Given the description of an element on the screen output the (x, y) to click on. 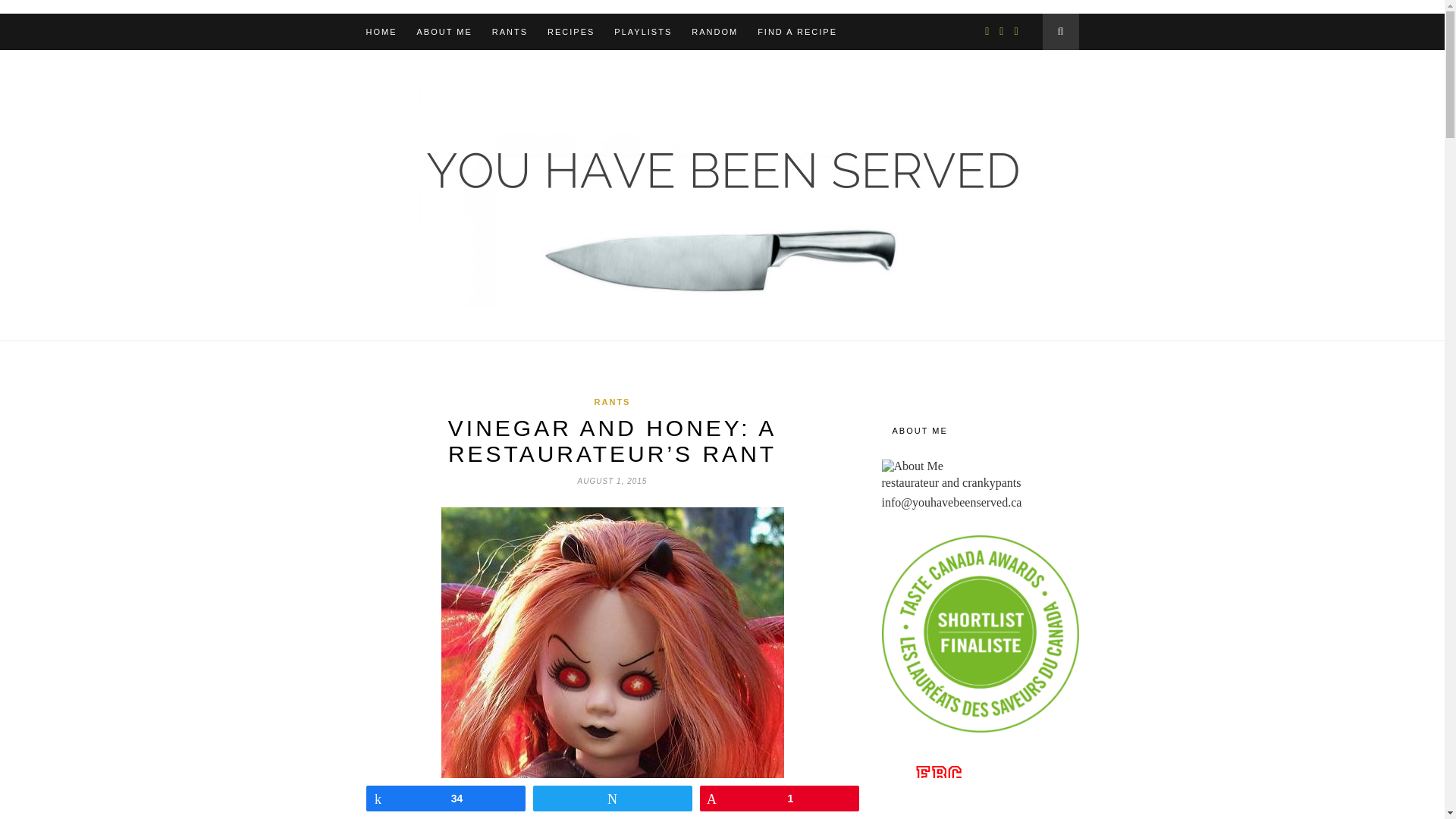
PLAYLISTS (642, 31)
RANTS (509, 31)
RECIPES (570, 31)
ABOUT ME (443, 31)
RANTS (612, 401)
View all posts in Rants (612, 401)
RANDOM (714, 31)
FIND A RECIPE (797, 31)
